Given the description of an element on the screen output the (x, y) to click on. 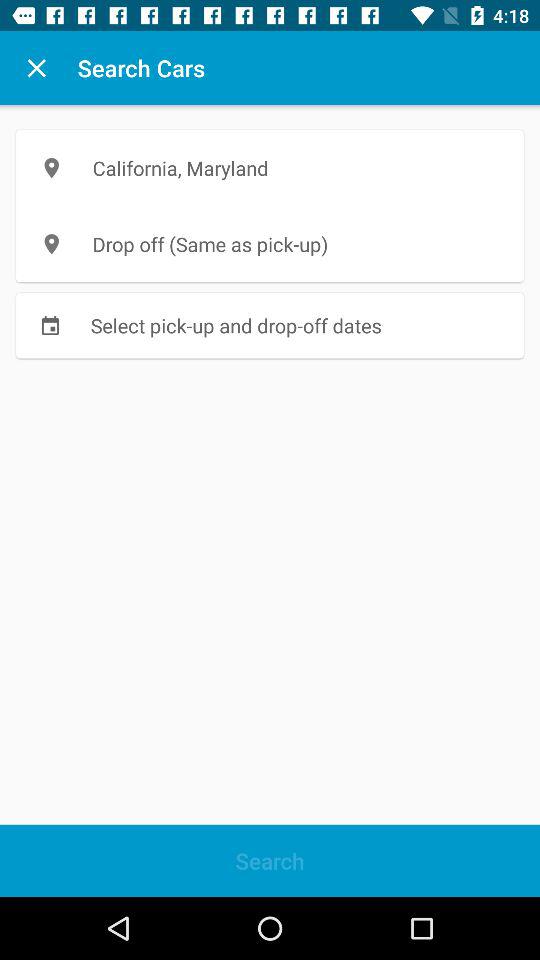
select the california, maryland item (269, 168)
